Given the description of an element on the screen output the (x, y) to click on. 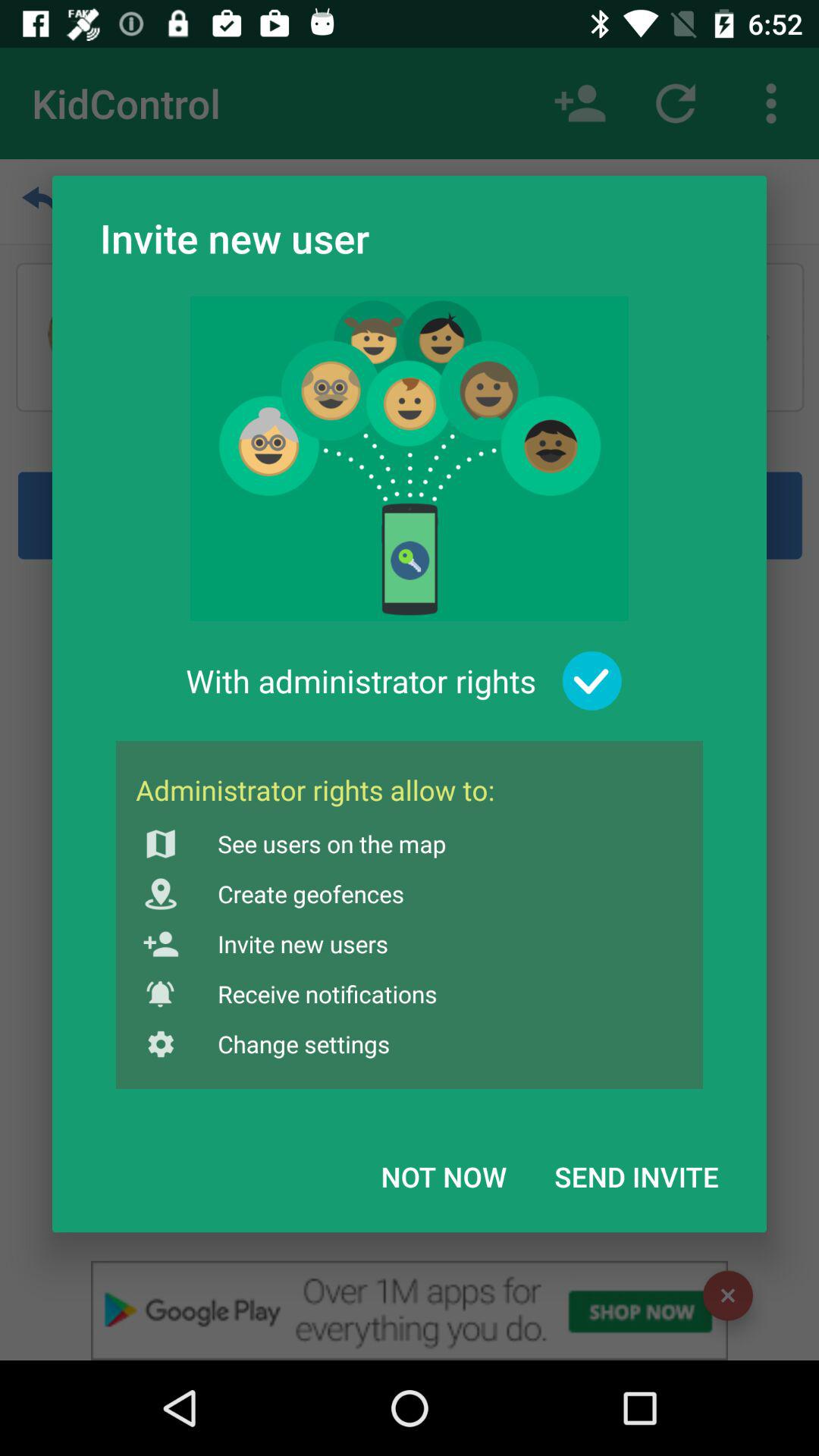
choose item at the bottom right corner (636, 1176)
